Given the description of an element on the screen output the (x, y) to click on. 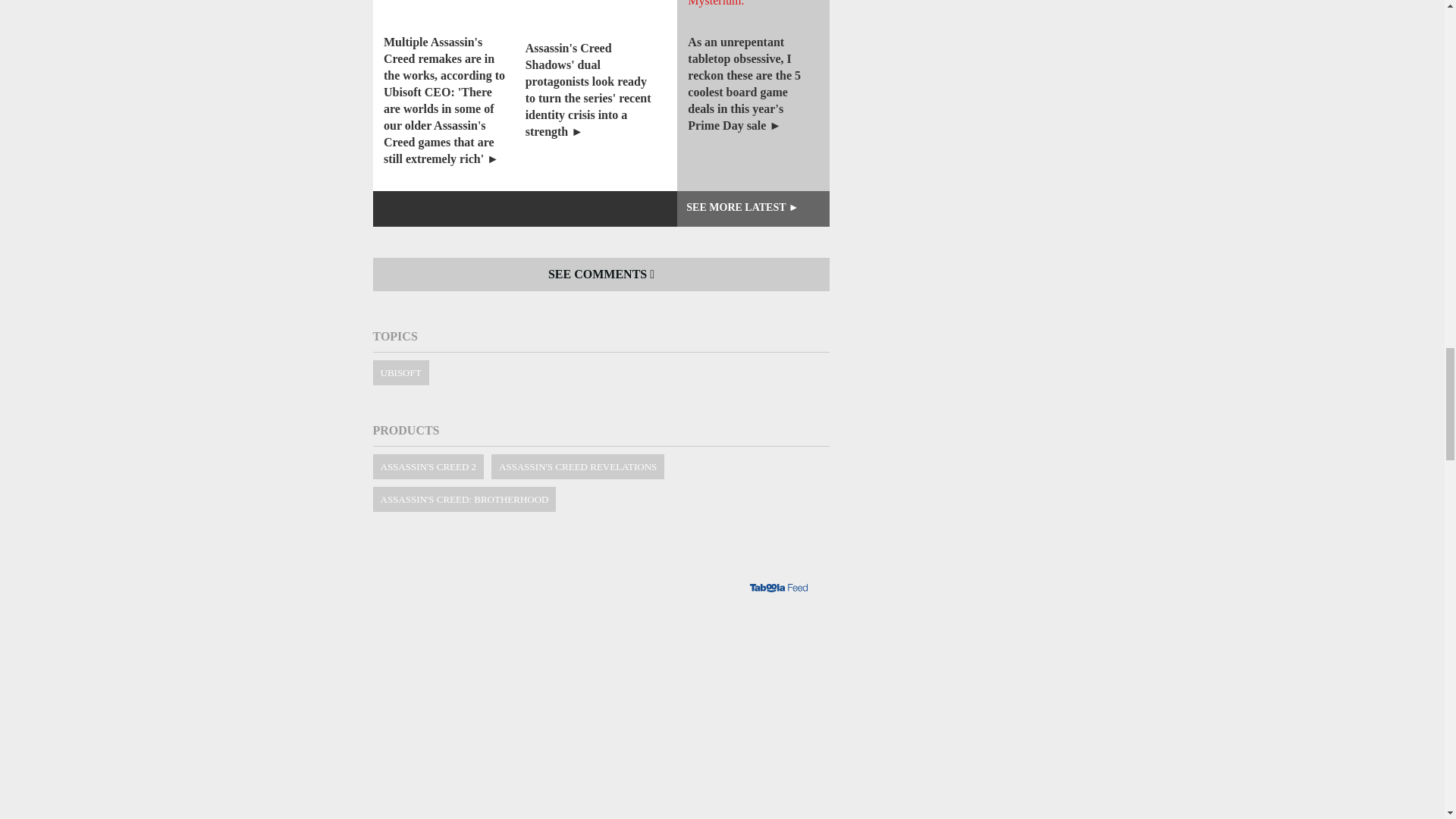
What is your writing missing? (600, 677)
What is your writing missing? (600, 802)
